Given the description of an element on the screen output the (x, y) to click on. 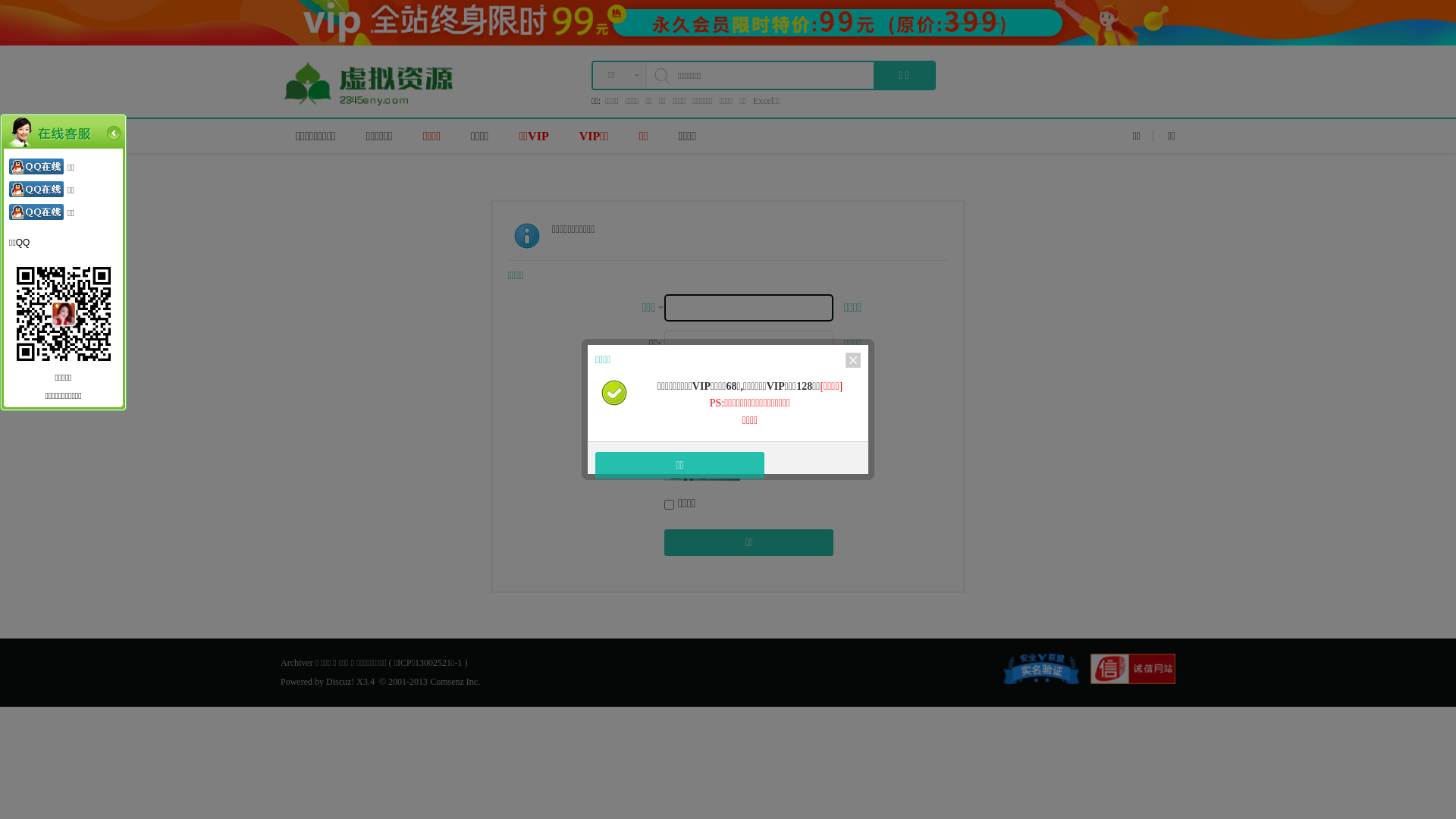
Archiver Element type: text (296, 662)
Discuz! Element type: text (340, 681)
Comsenz Inc. Element type: text (454, 681)
